Given the description of an element on the screen output the (x, y) to click on. 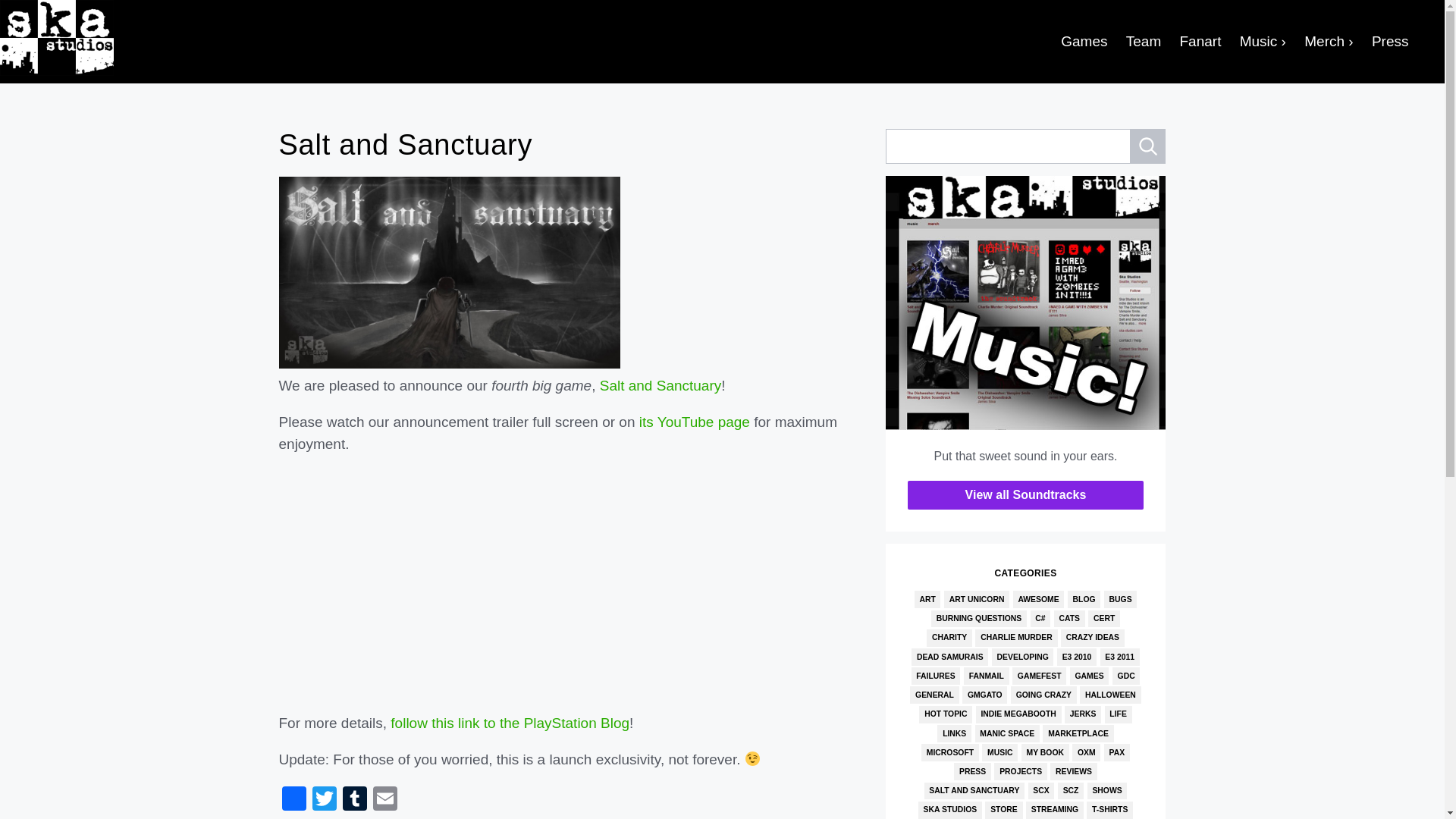
GDC (1126, 675)
Tumblr (354, 800)
Email (384, 800)
View all Soundtracks (1024, 494)
Email (384, 800)
DEAD SAMURAIS (949, 656)
Facebook (293, 800)
Tumblr (354, 800)
follow this link to the PlayStation Blog (509, 722)
AWESOME (1038, 599)
